Given the description of an element on the screen output the (x, y) to click on. 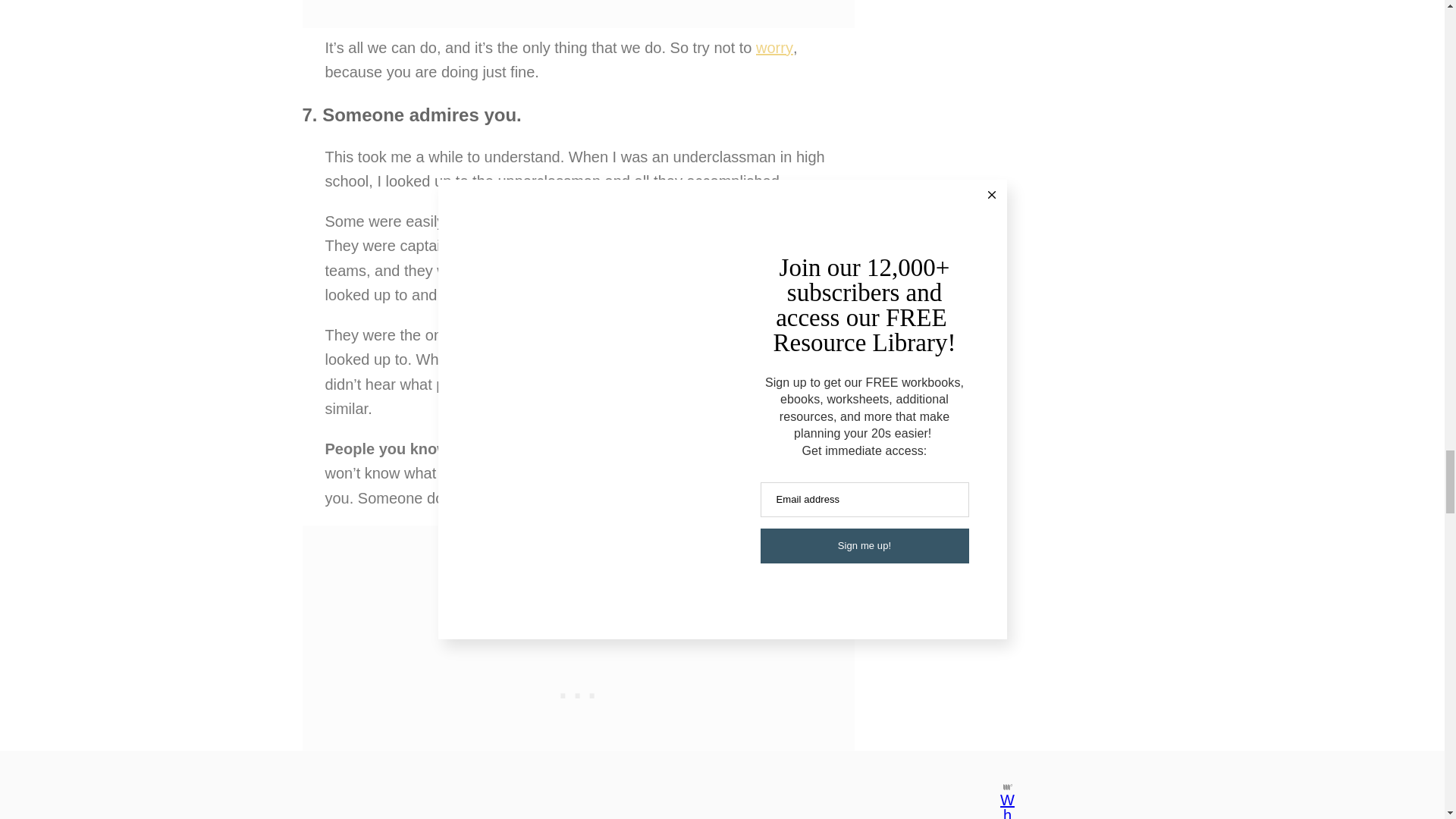
worry (774, 47)
